Given the description of an element on the screen output the (x, y) to click on. 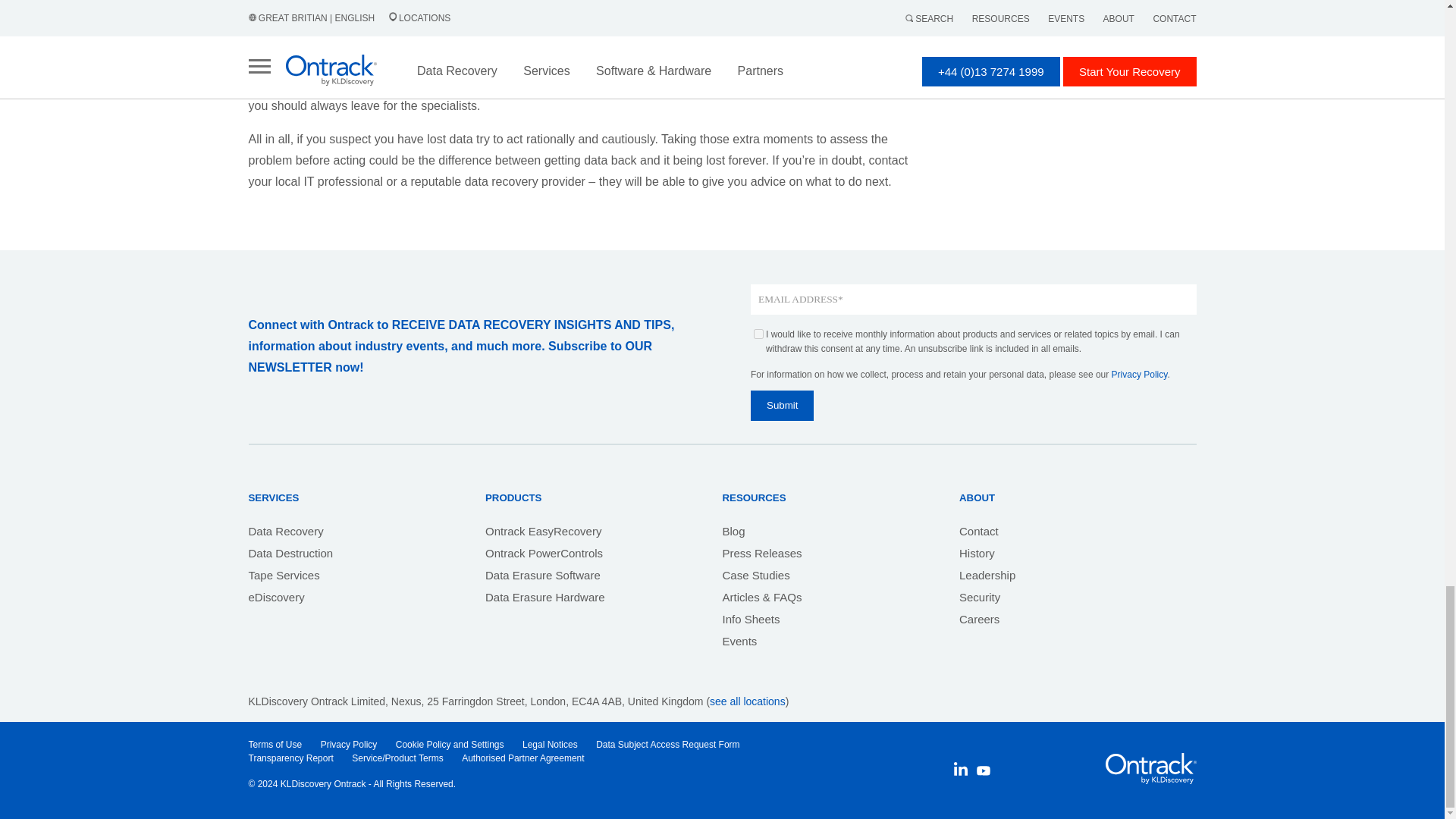
Submit (782, 405)
true (758, 334)
